Given the description of an element on the screen output the (x, y) to click on. 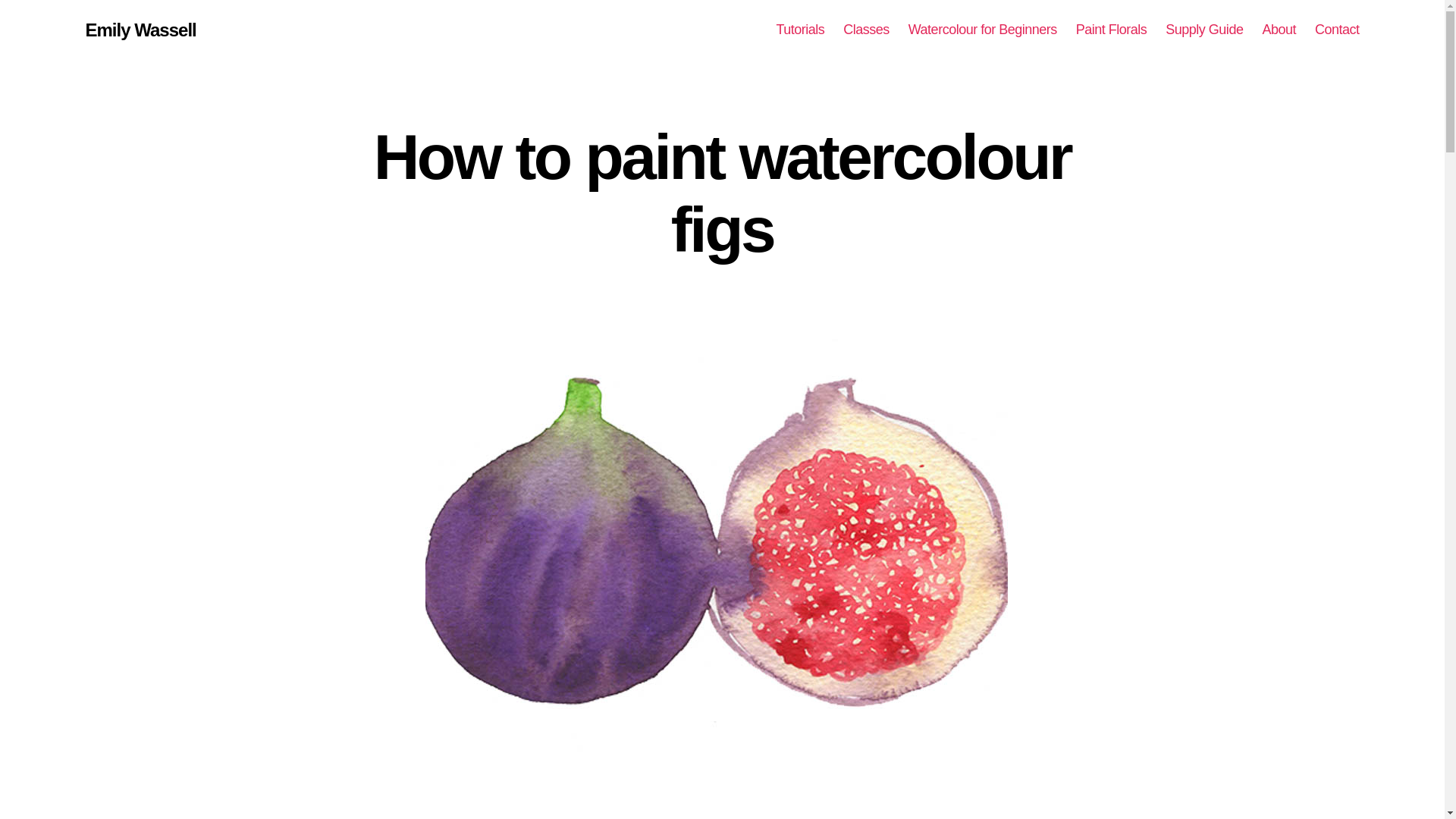
Watercolour for Beginners (982, 30)
Tutorials (800, 30)
Contact (1336, 30)
About (1278, 30)
Supply Guide (1204, 30)
Emily Wassell (139, 30)
Classes (866, 30)
Paint Florals (1111, 30)
